Given the description of an element on the screen output the (x, y) to click on. 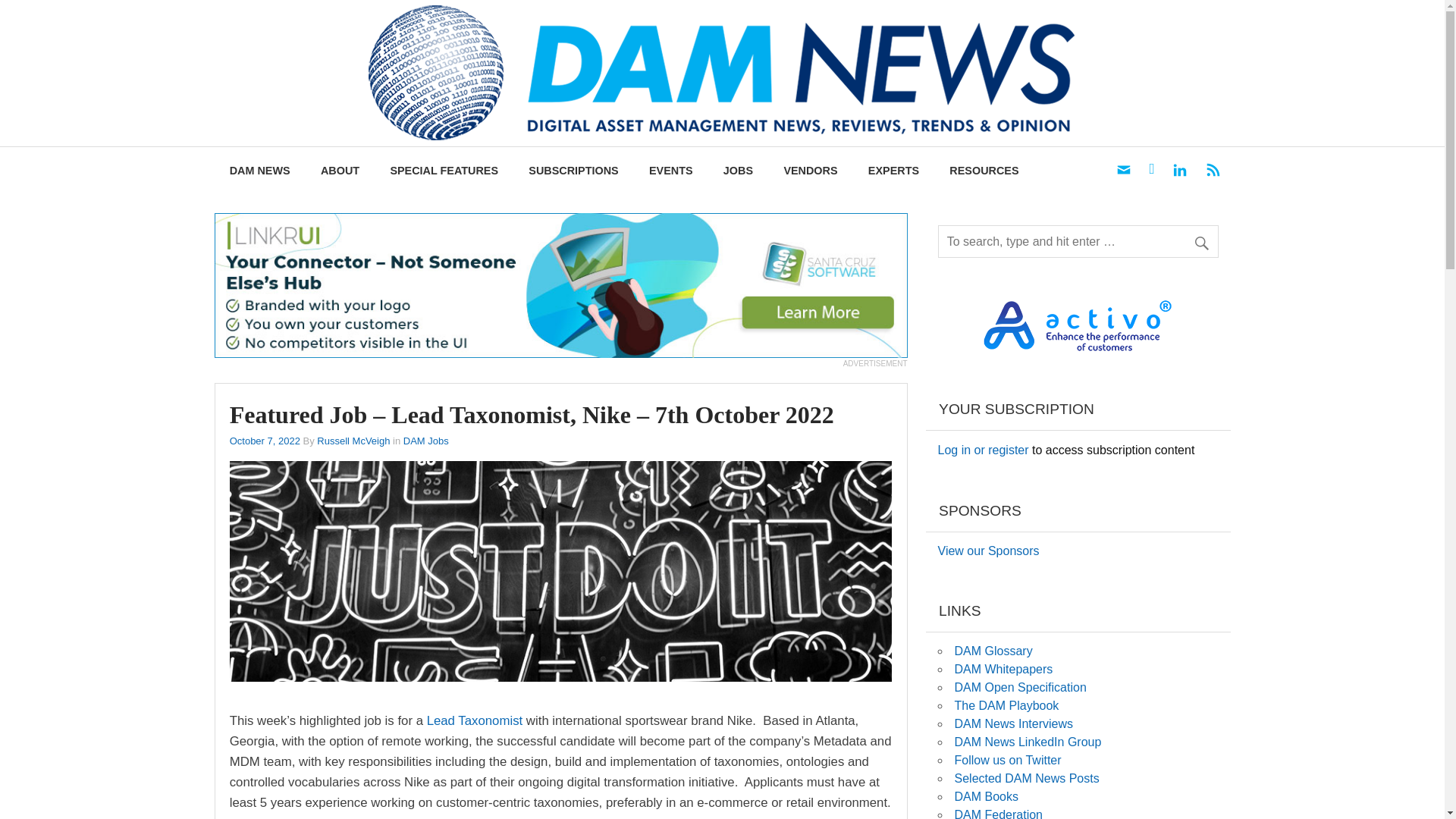
VENDORS (809, 170)
SPECIAL FEATURES (443, 170)
RESOURCES (983, 170)
October 7, 2022 (264, 440)
DAM Whitepapers (1002, 668)
DAM NEWS (259, 170)
ABOUT (339, 170)
Russell McVeigh (353, 440)
The DAM News dedicated Linked In Group (1026, 741)
EXPERTS (893, 170)
JOBS (737, 170)
A selection of comment-oriented DAM News posts (1026, 778)
View all posts by Russell McVeigh (353, 440)
Digital Asset Management News (1265, 31)
EVENTS (670, 170)
